Given the description of an element on the screen output the (x, y) to click on. 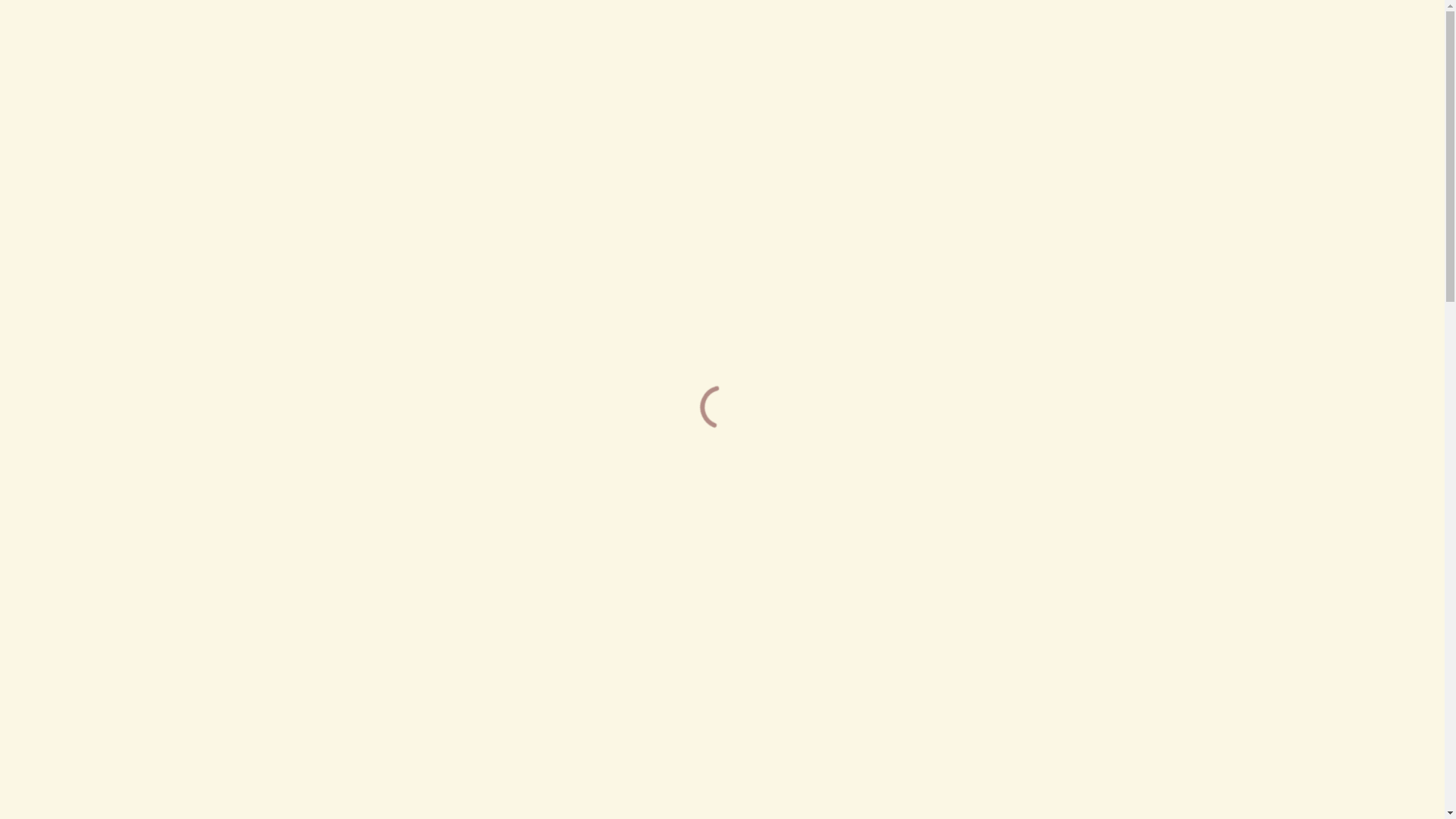
Curses Element type: text (467, 52)
Customize Element type: text (1149, 755)
Reject All Element type: text (1248, 755)
twitter Element type: text (1043, 52)
Galeria Element type: text (836, 52)
Normativa Element type: text (549, 52)
facebook Element type: text (1070, 52)
Blog Element type: text (777, 52)
Accept All Element type: text (1346, 755)
Contacte Element type: text (916, 52)
youtube Element type: text (1097, 52)
instagram Element type: text (1125, 52)
FAQ Element type: text (731, 52)
